Given the description of an element on the screen output the (x, y) to click on. 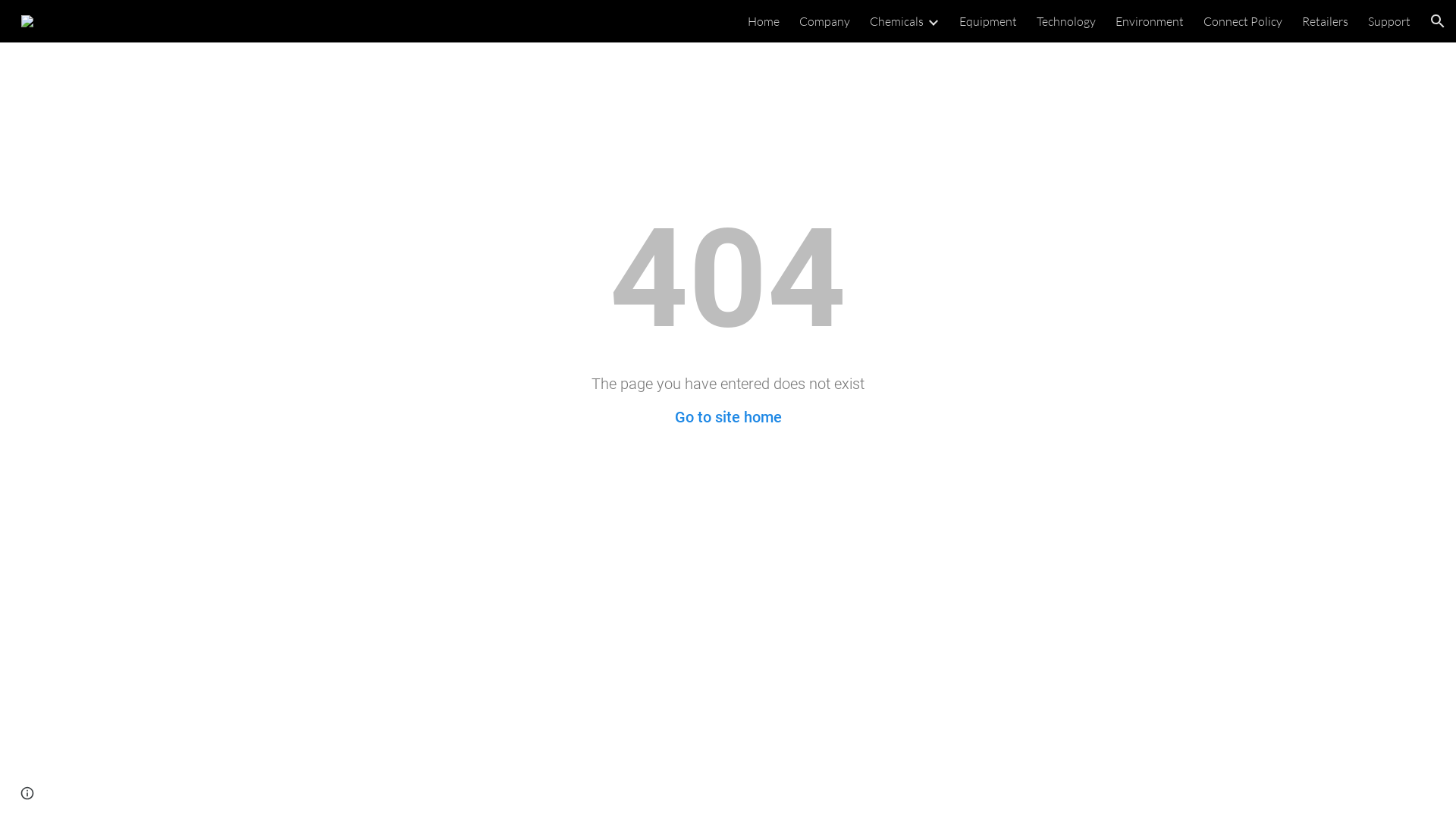
Home Element type: text (763, 20)
Connect Policy Element type: text (1242, 20)
Support Element type: text (1389, 20)
Retailers Element type: text (1325, 20)
Environment Element type: text (1149, 20)
Technology Element type: text (1065, 20)
Company Element type: text (824, 20)
Go to site home Element type: text (727, 416)
Expand/Collapse Element type: hover (932, 20)
Chemicals Element type: text (896, 20)
Equipment Element type: text (987, 20)
